Given the description of an element on the screen output the (x, y) to click on. 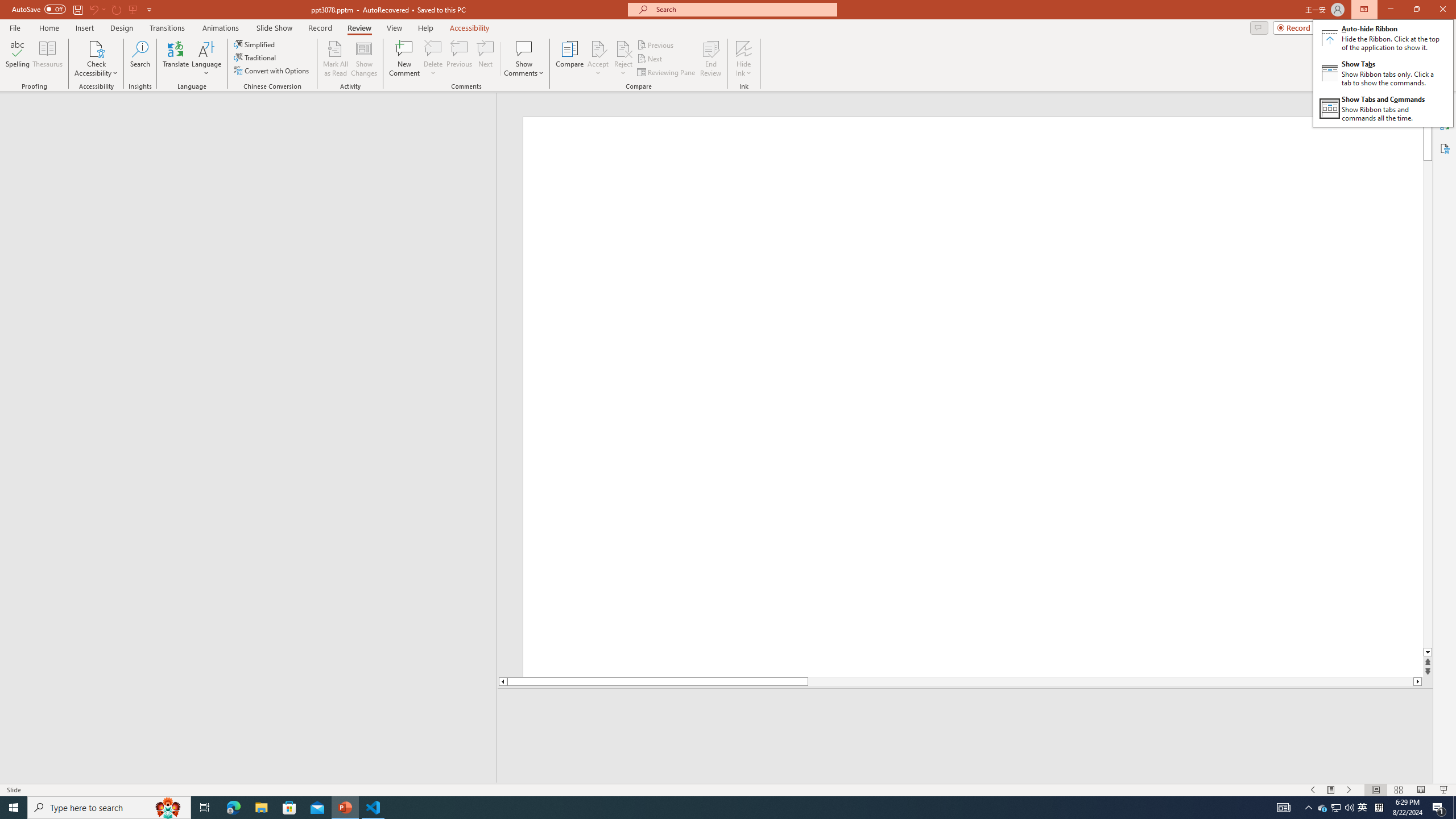
Previous (655, 44)
Simplified (254, 44)
Reviewing Pane (666, 72)
Mark All as Read (335, 58)
